Given the description of an element on the screen output the (x, y) to click on. 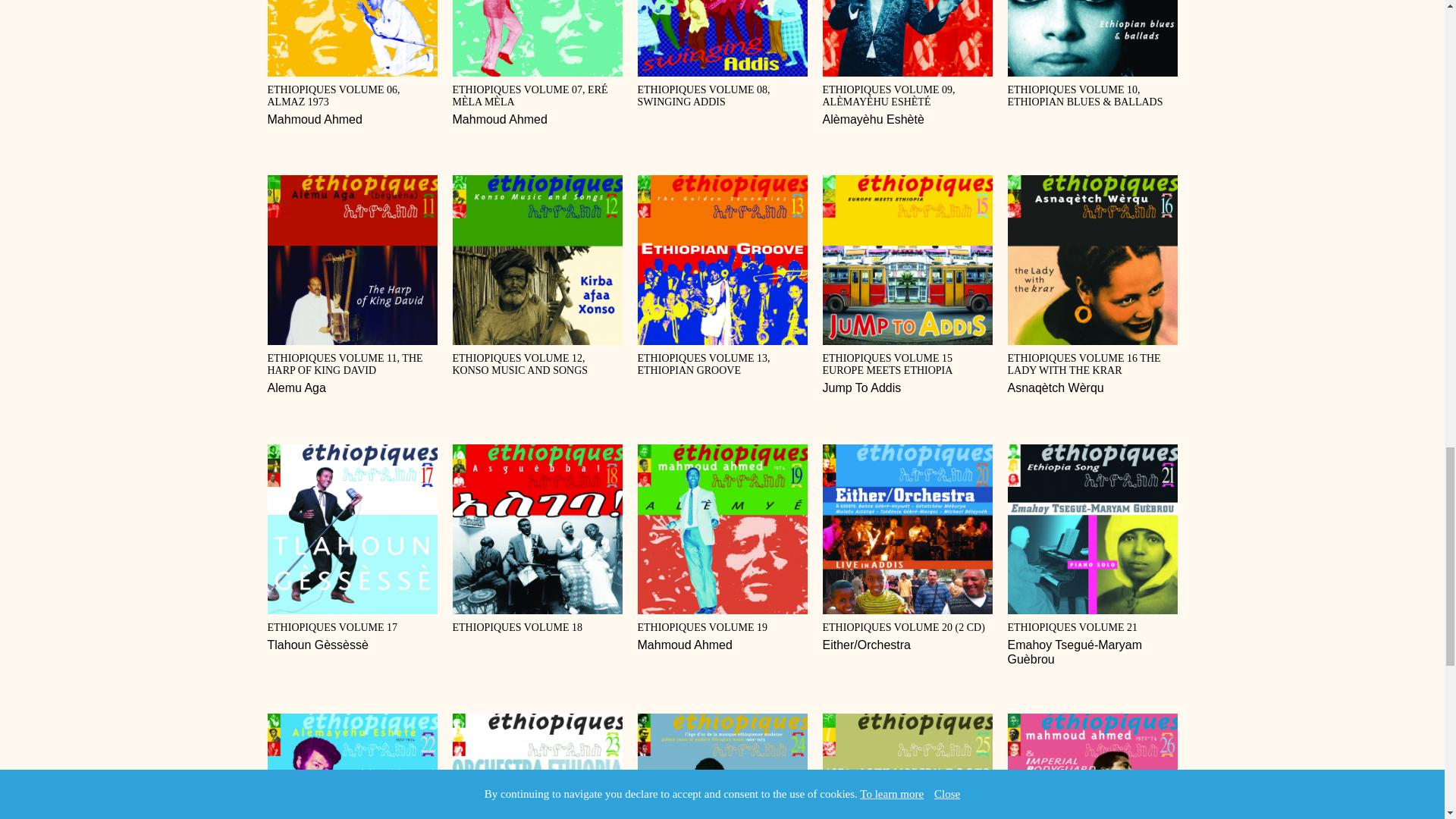
ETHIOPIQUES VOLUME 08, SWINGING ADDIS (351, 284)
ETHIOPIQUES VOLUME 18 (351, 63)
ETHIOPIQUES VOLUME 25 (1091, 766)
ETHIOPIQUES VOLUME 24 (721, 54)
ETHIOPIQUES VOLUME 13, ETHIOPIAN GROOVE (536, 538)
ETHIOPIQUES VOLUME 12, KONSO MUSIC AND SONGS (721, 547)
